Given the description of an element on the screen output the (x, y) to click on. 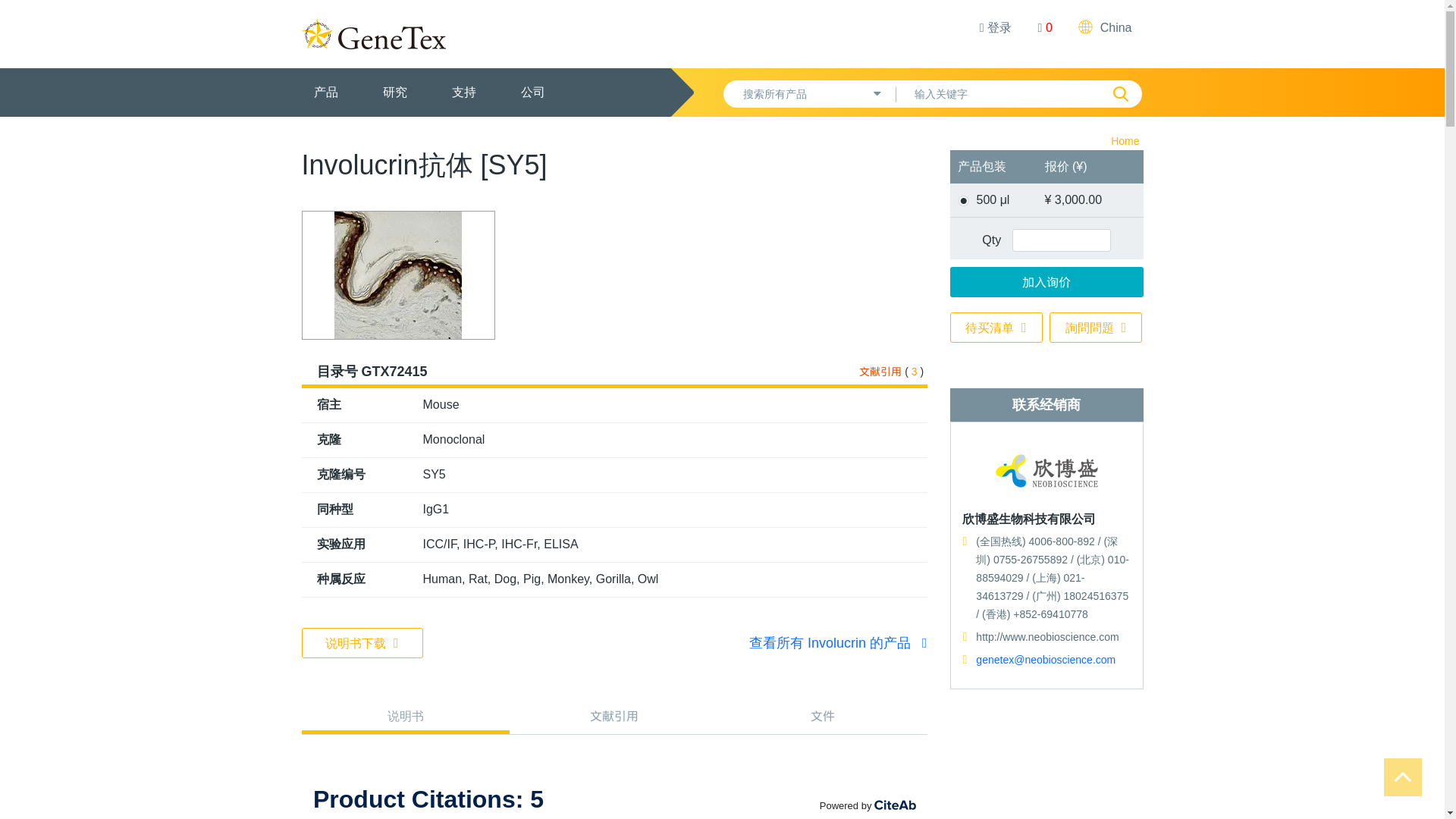
Home (1124, 141)
